Given the description of an element on the screen output the (x, y) to click on. 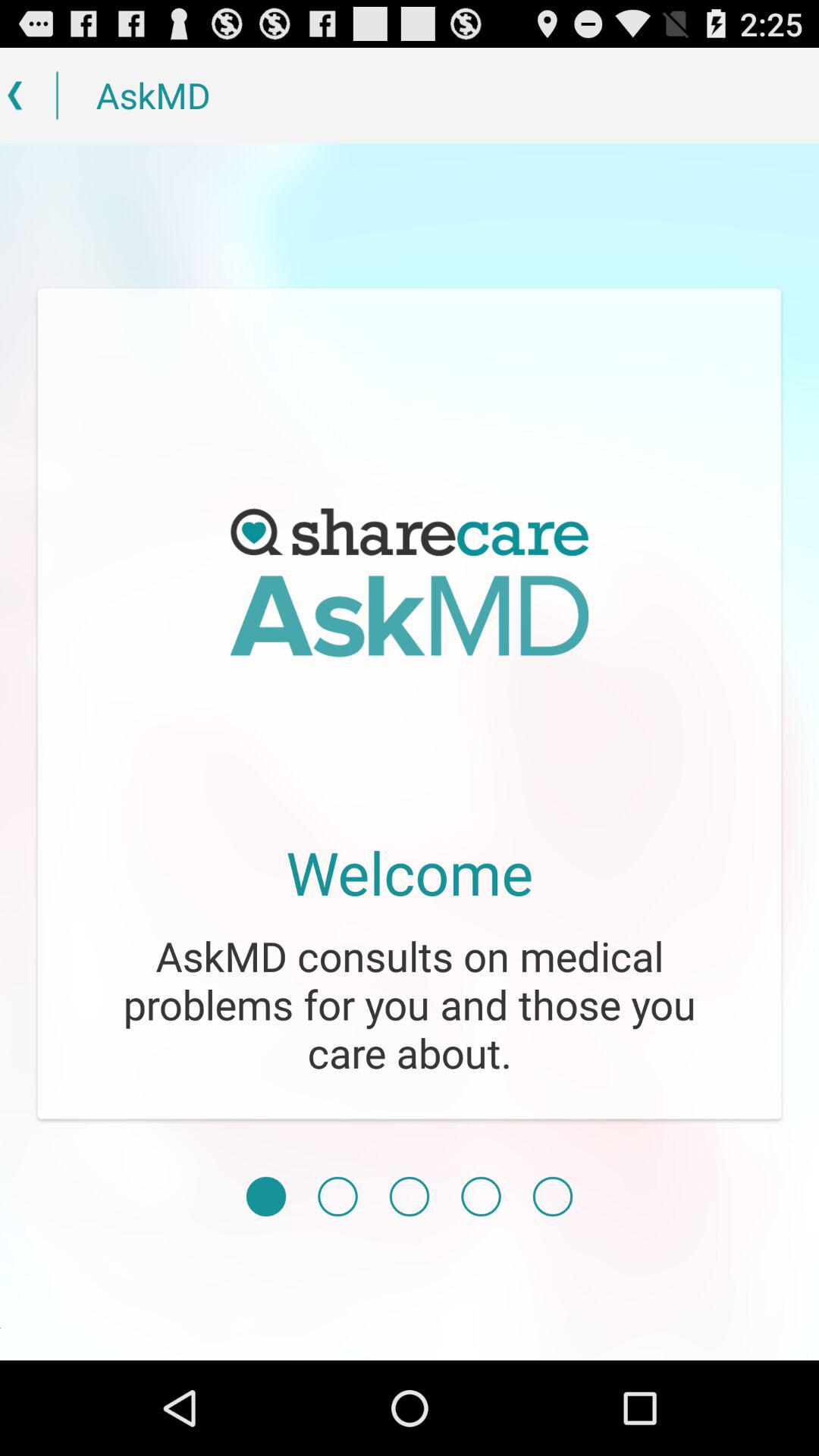
third page selected (409, 1196)
